Given the description of an element on the screen output the (x, y) to click on. 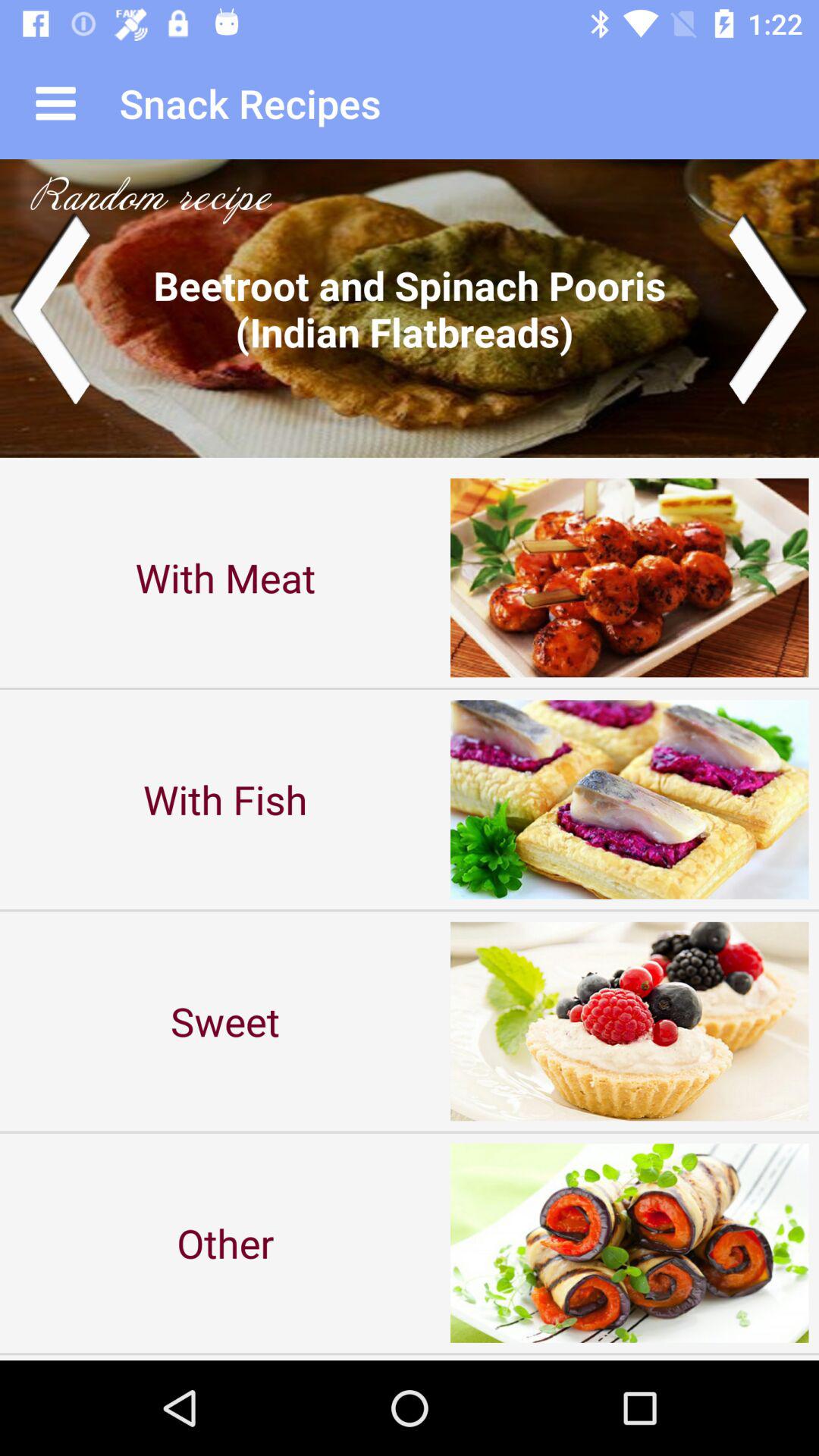
swipe until the with fish icon (225, 798)
